Given the description of an element on the screen output the (x, y) to click on. 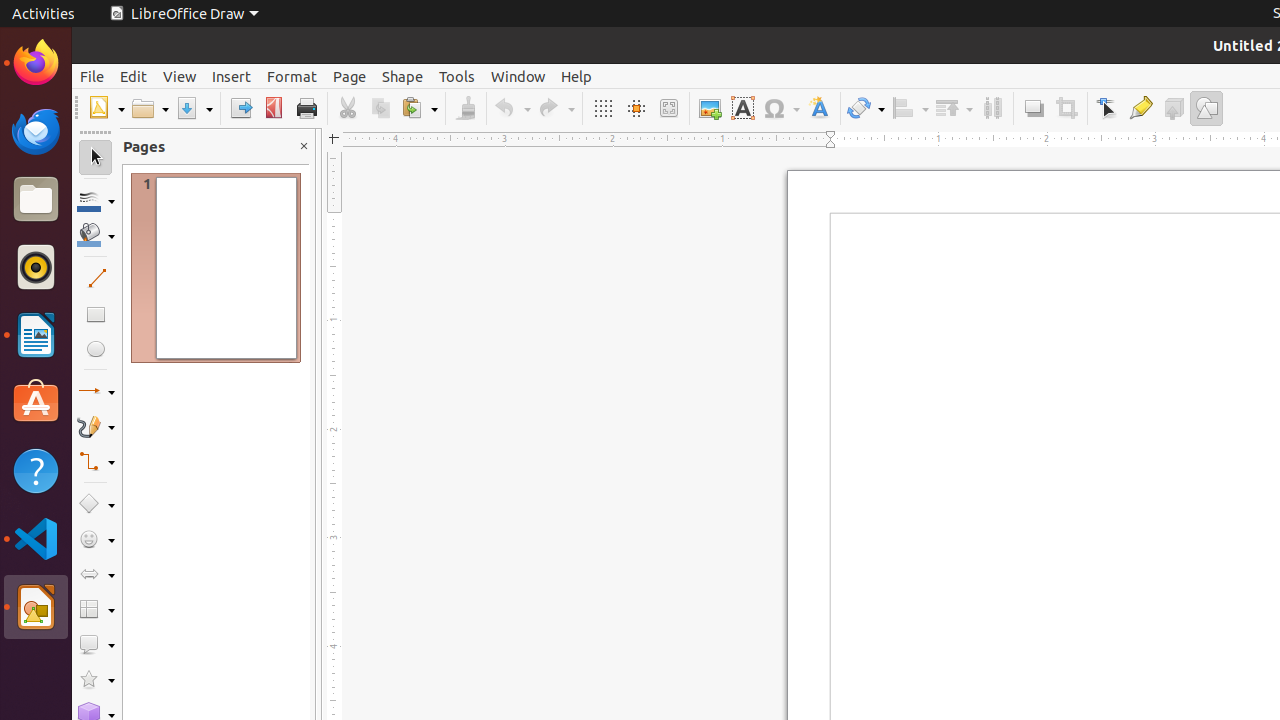
Redo Element type: push-button (556, 108)
Curves and Polygons Element type: push-button (96, 426)
PDF Element type: push-button (273, 108)
File Element type: menu (92, 76)
Clone Element type: push-button (465, 108)
